Given the description of an element on the screen output the (x, y) to click on. 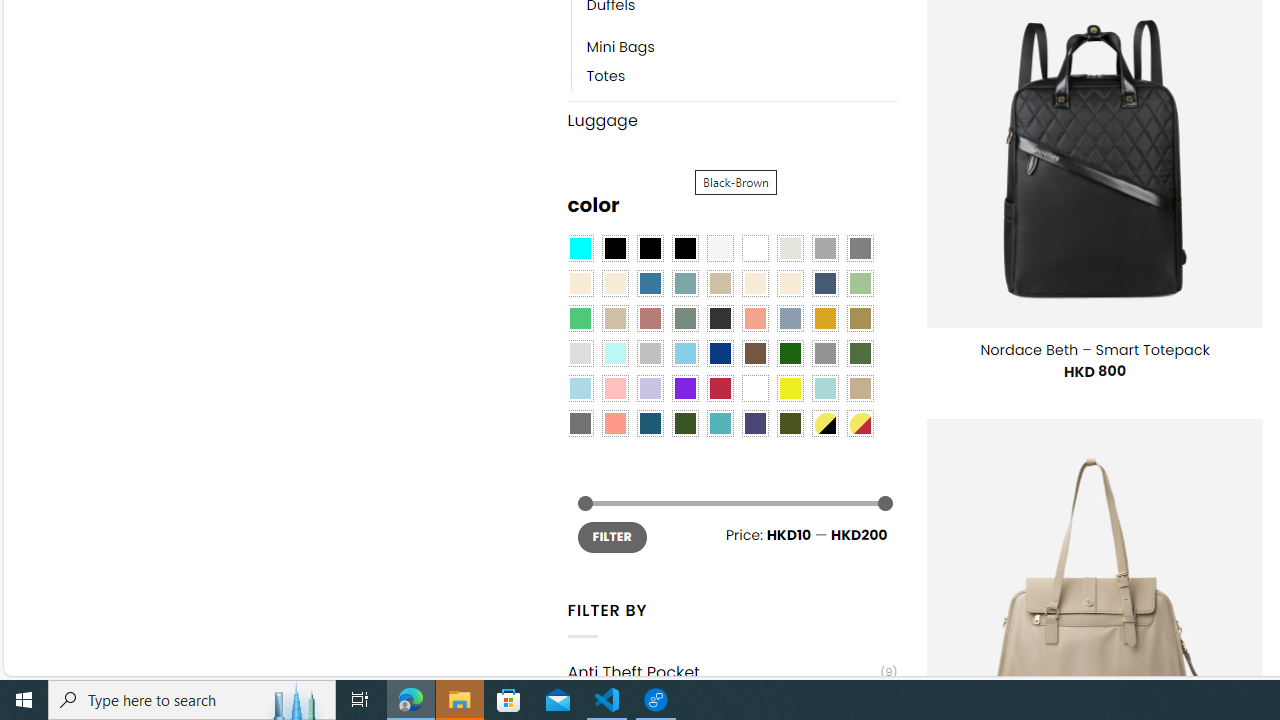
Forest (684, 424)
Rose (650, 318)
Brown (755, 354)
Gray (824, 354)
Sky Blue (684, 354)
Black (650, 249)
Clear (755, 249)
Kelp (859, 318)
Ash Gray (789, 249)
Luggage (732, 119)
Light Purple (650, 388)
Sage (684, 318)
Brownie (719, 283)
Capri Blue (650, 424)
